Given the description of an element on the screen output the (x, y) to click on. 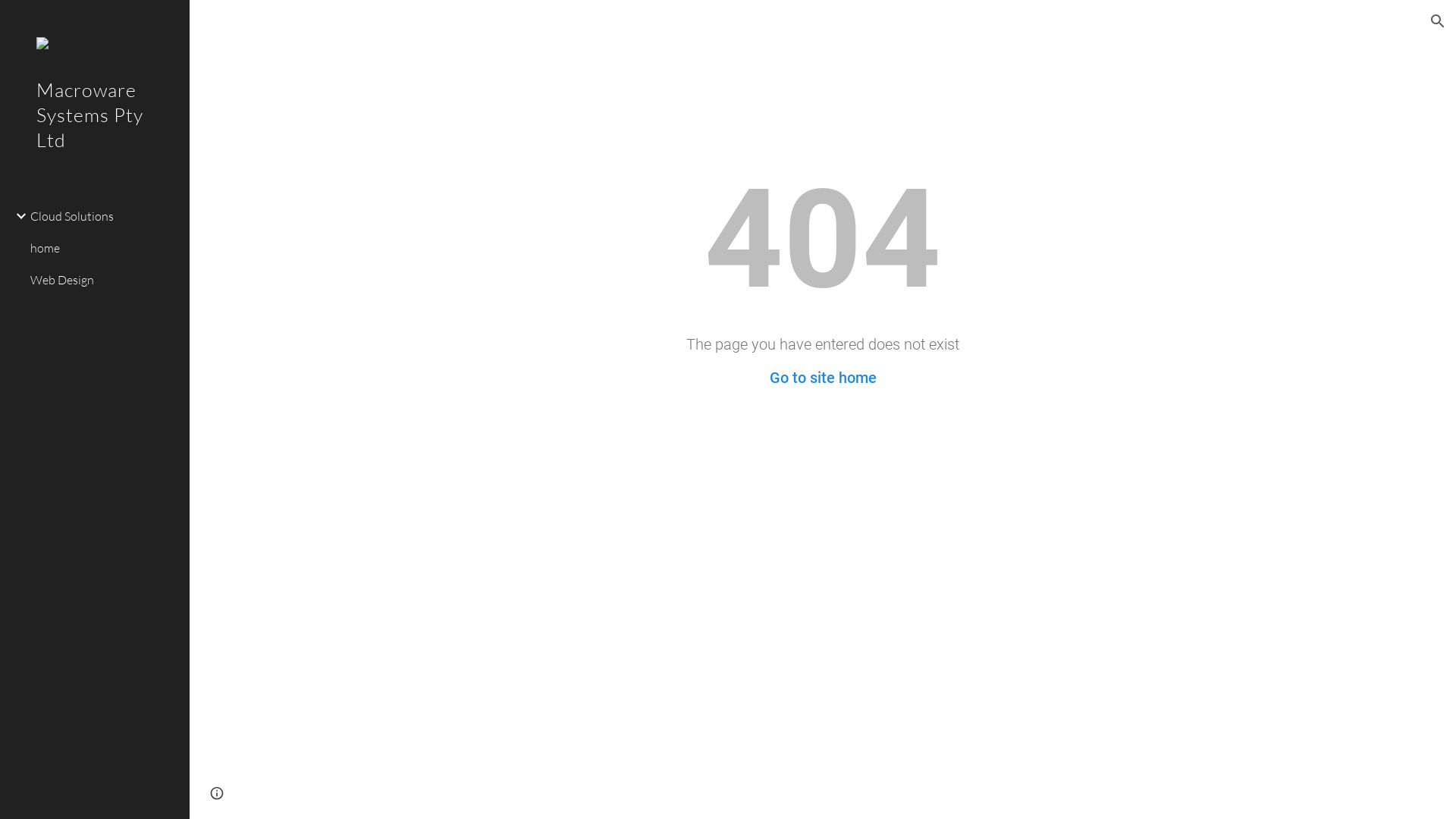
Cloud Solutions Element type: text (103, 216)
Go to site home Element type: text (821, 377)
Macroware Systems Pty Ltd Element type: text (94, 134)
Expand/Collapse Element type: hover (16, 216)
Web Design Element type: text (103, 280)
home Element type: text (103, 248)
